Given the description of an element on the screen output the (x, y) to click on. 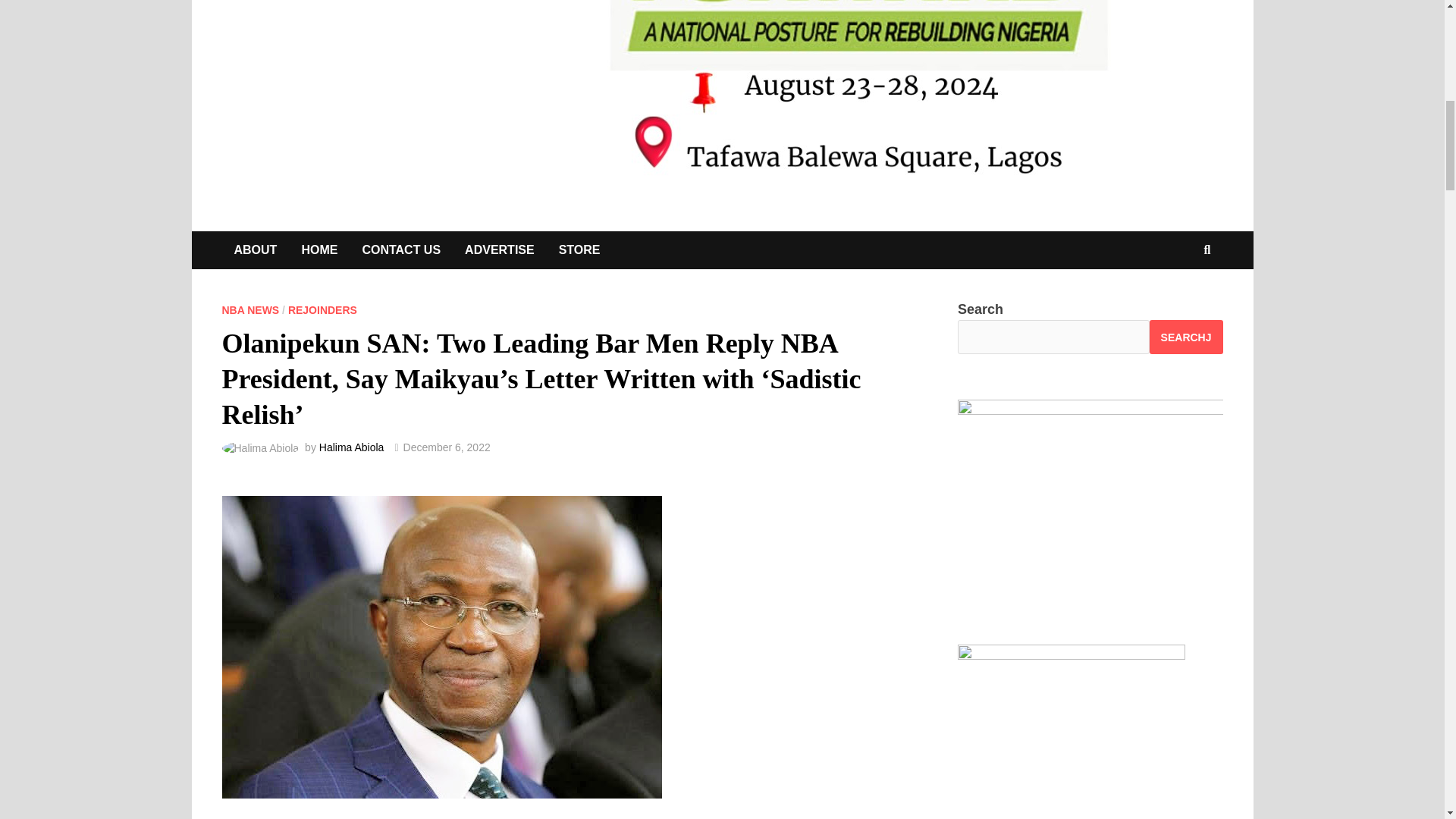
ABOUT (254, 249)
REJOINDERS (322, 309)
STORE (579, 249)
NBA NEWS (250, 309)
Halima Abiola (351, 447)
HOME (318, 249)
SEARCHJ (1186, 336)
ADVERTISE (499, 249)
December 6, 2022 (446, 447)
CONTACT US (400, 249)
